Given the description of an element on the screen output the (x, y) to click on. 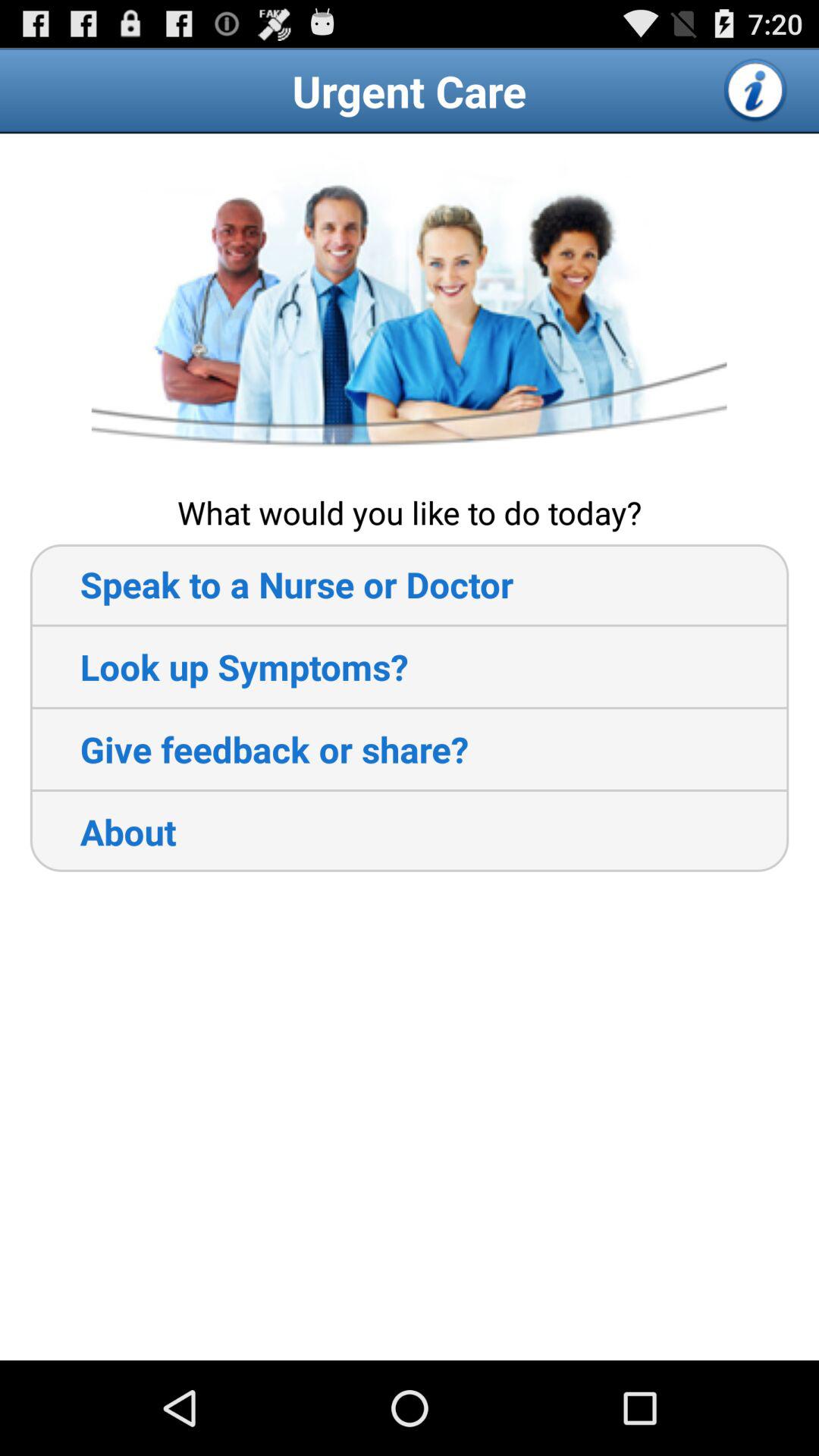
choose the app below look up symptoms? icon (249, 749)
